Given the description of an element on the screen output the (x, y) to click on. 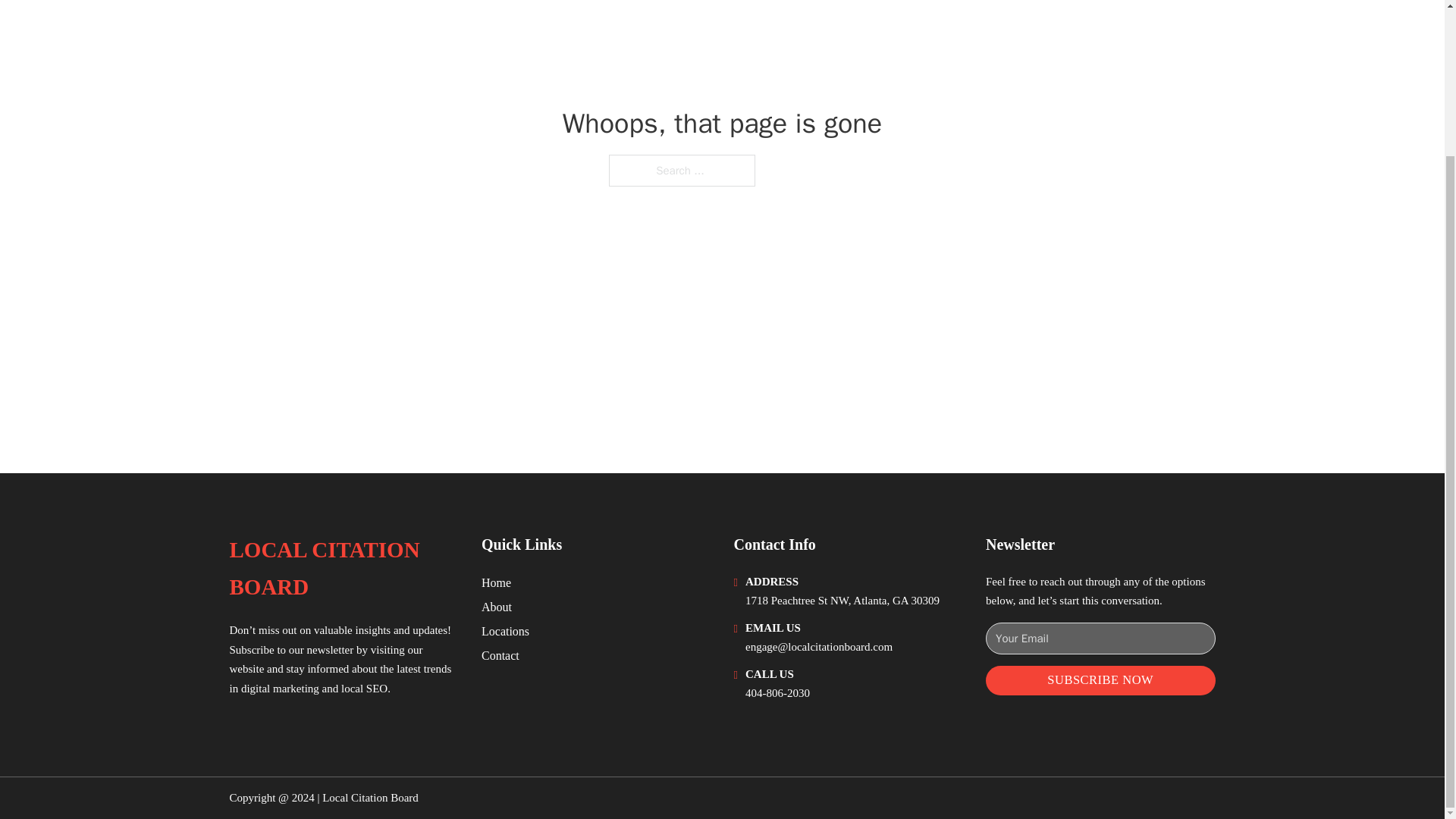
Home (496, 582)
Contact (500, 655)
About (496, 607)
404-806-2030 (777, 693)
SUBSCRIBE NOW (1100, 680)
Locations (505, 630)
LOCAL CITATION BOARD (343, 568)
